Given the description of an element on the screen output the (x, y) to click on. 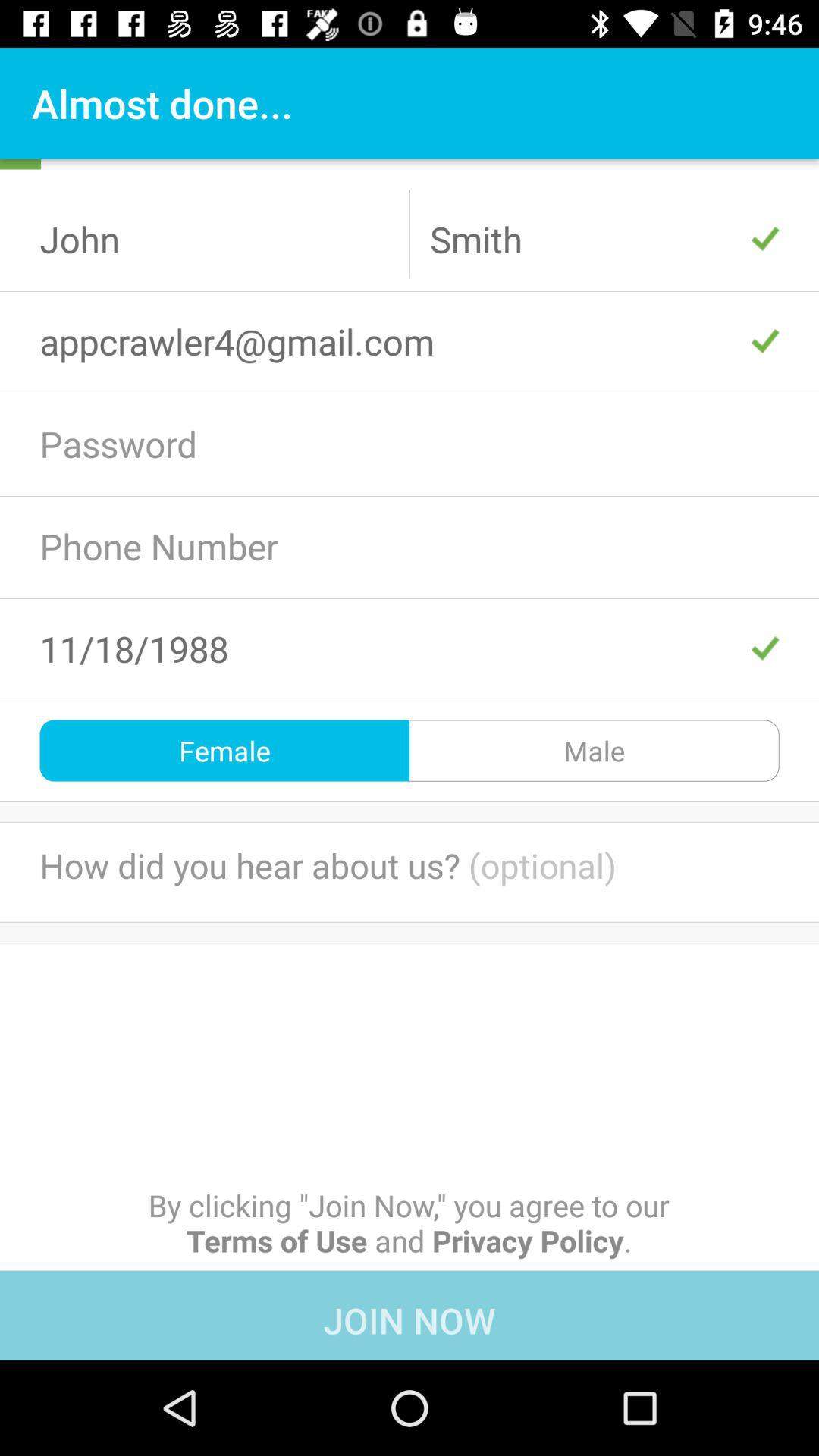
click item next to the male icon (224, 750)
